Given the description of an element on the screen output the (x, y) to click on. 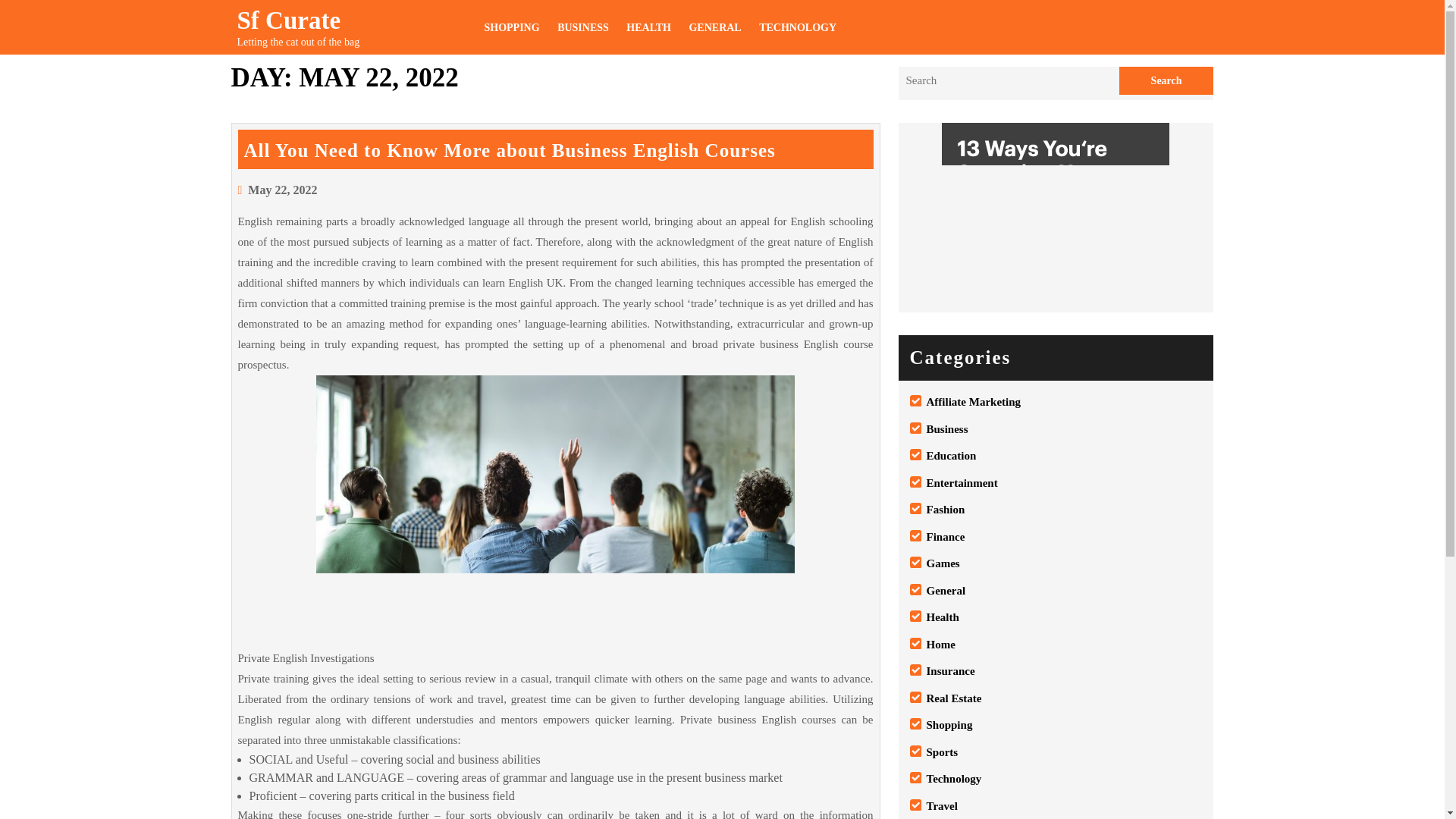
Technology (953, 778)
Finance (945, 536)
Health (942, 616)
BUSINESS (582, 27)
Travel (942, 806)
Insurance (950, 671)
Search (1166, 80)
Education (951, 455)
Search (1166, 80)
HEALTH (648, 27)
